Given the description of an element on the screen output the (x, y) to click on. 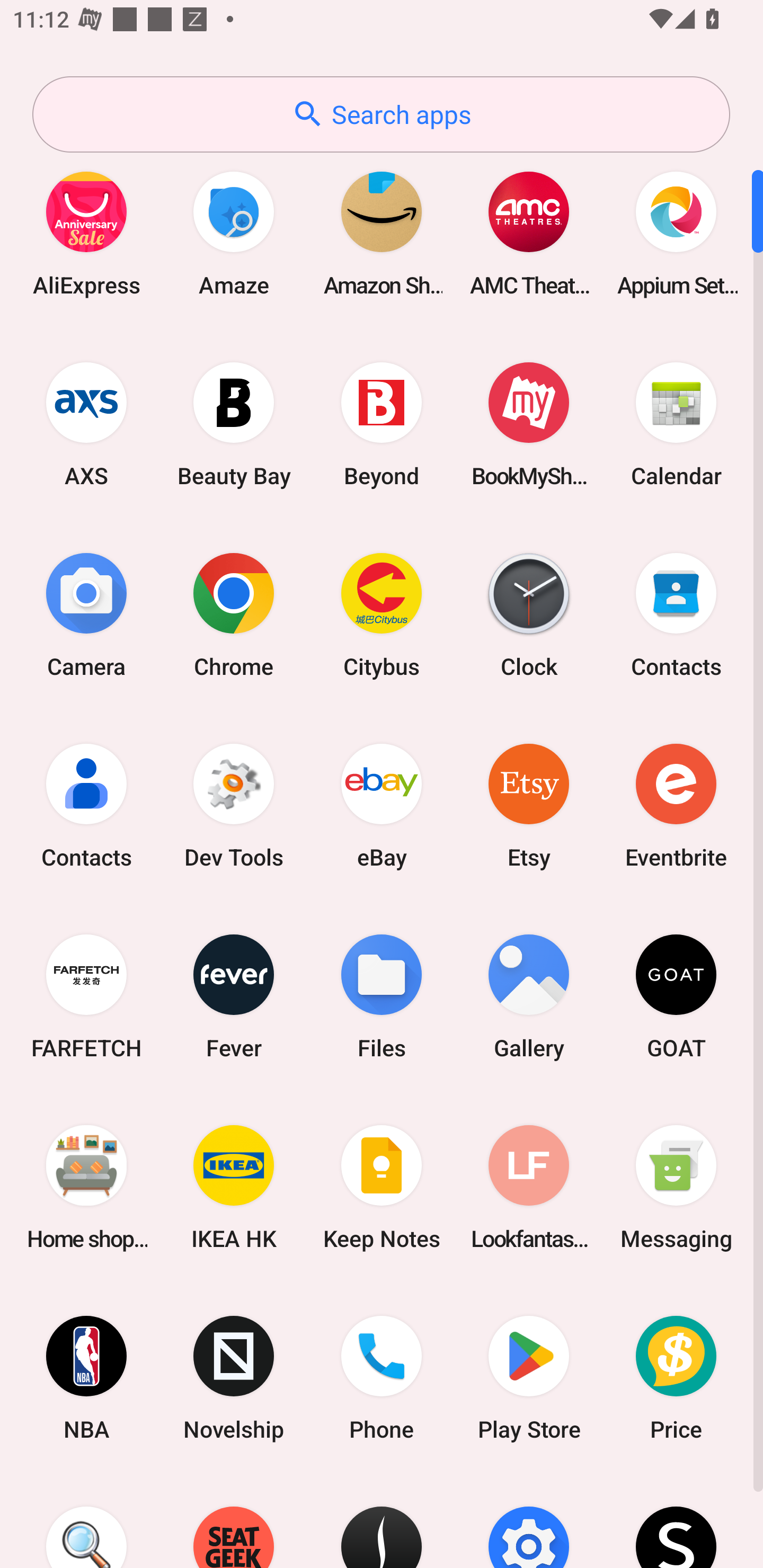
  Search apps (381, 114)
AliExpress (86, 233)
Amaze (233, 233)
Amazon Shopping (381, 233)
AMC Theatres (528, 233)
Appium Settings (676, 233)
AXS (86, 424)
Beauty Bay (233, 424)
Beyond (381, 424)
BookMyShow (528, 424)
Calendar (676, 424)
Camera (86, 614)
Chrome (233, 614)
Citybus (381, 614)
Clock (528, 614)
Contacts (676, 614)
Contacts (86, 805)
Dev Tools (233, 805)
eBay (381, 805)
Etsy (528, 805)
Eventbrite (676, 805)
FARFETCH (86, 996)
Fever (233, 996)
Files (381, 996)
Gallery (528, 996)
GOAT (676, 996)
Home shopping (86, 1186)
IKEA HK (233, 1186)
Keep Notes (381, 1186)
Lookfantastic (528, 1186)
Messaging (676, 1186)
NBA (86, 1377)
Novelship (233, 1377)
Phone (381, 1377)
Play Store (528, 1377)
Price (676, 1377)
